Given the description of an element on the screen output the (x, y) to click on. 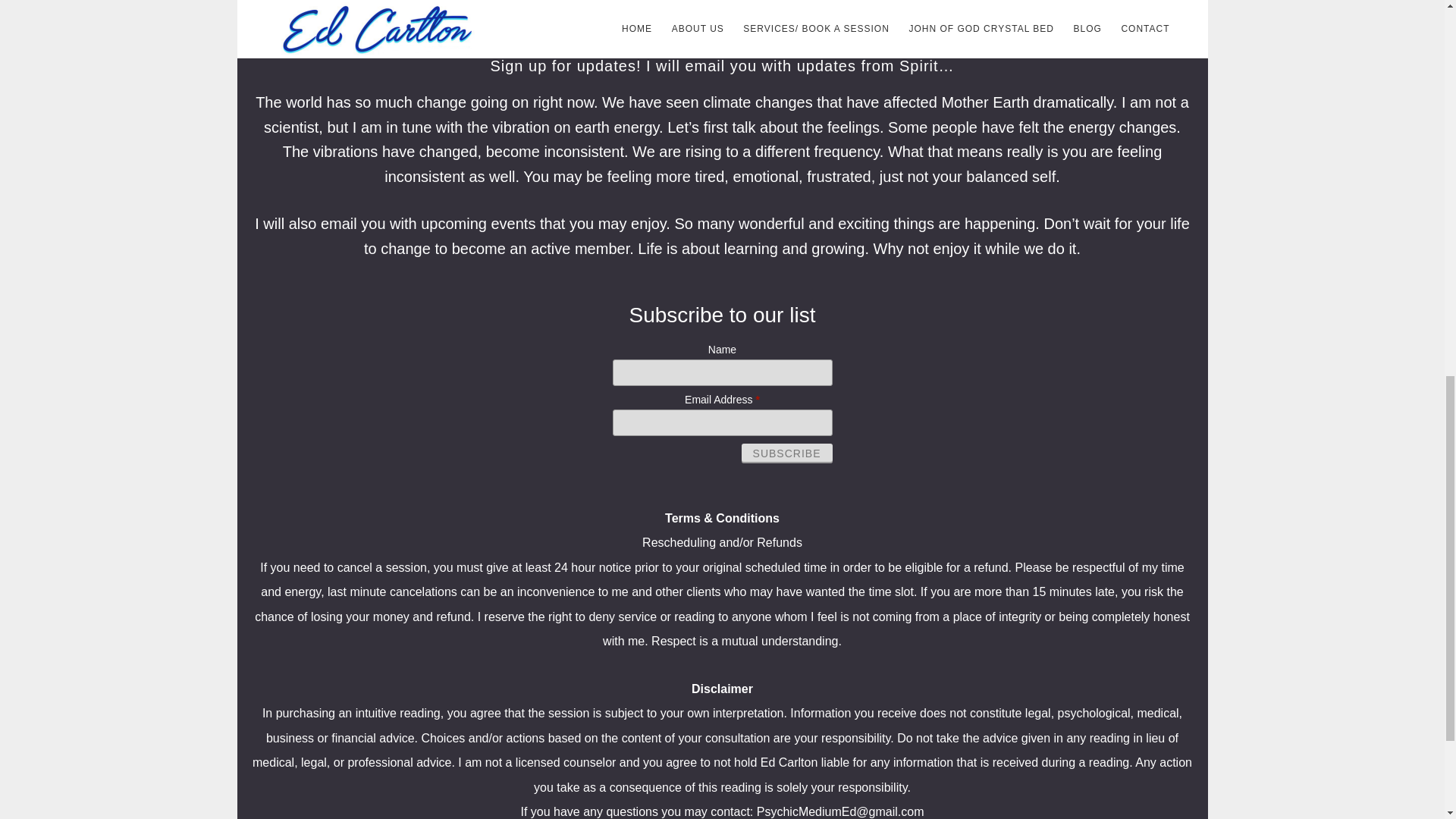
Subscribe (786, 453)
Subscribe (786, 453)
